Given the description of an element on the screen output the (x, y) to click on. 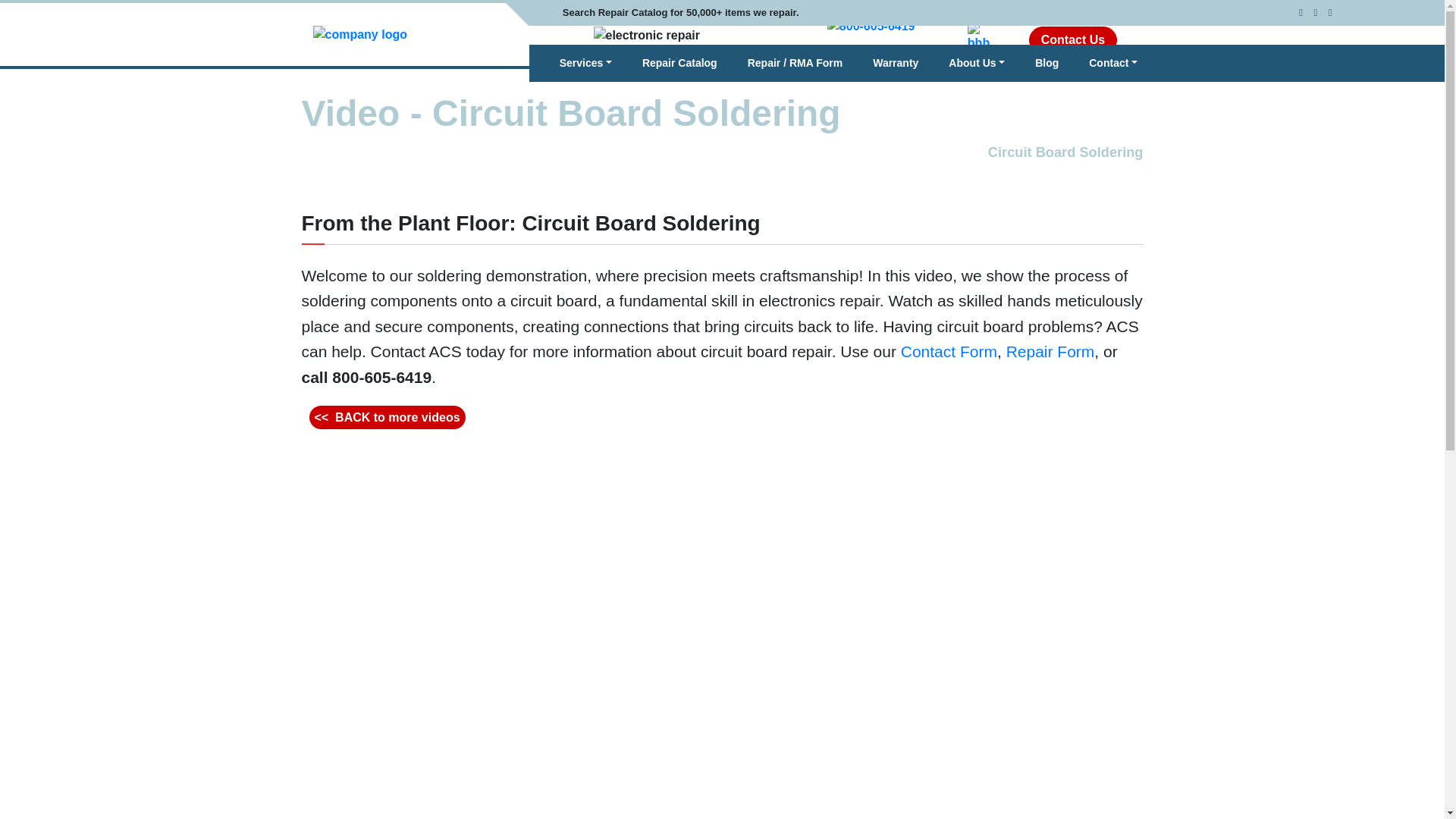
Contact Us (1072, 40)
Repair Catalog (679, 62)
Contact (1113, 62)
About Us (976, 62)
Warranty (895, 62)
